Given the description of an element on the screen output the (x, y) to click on. 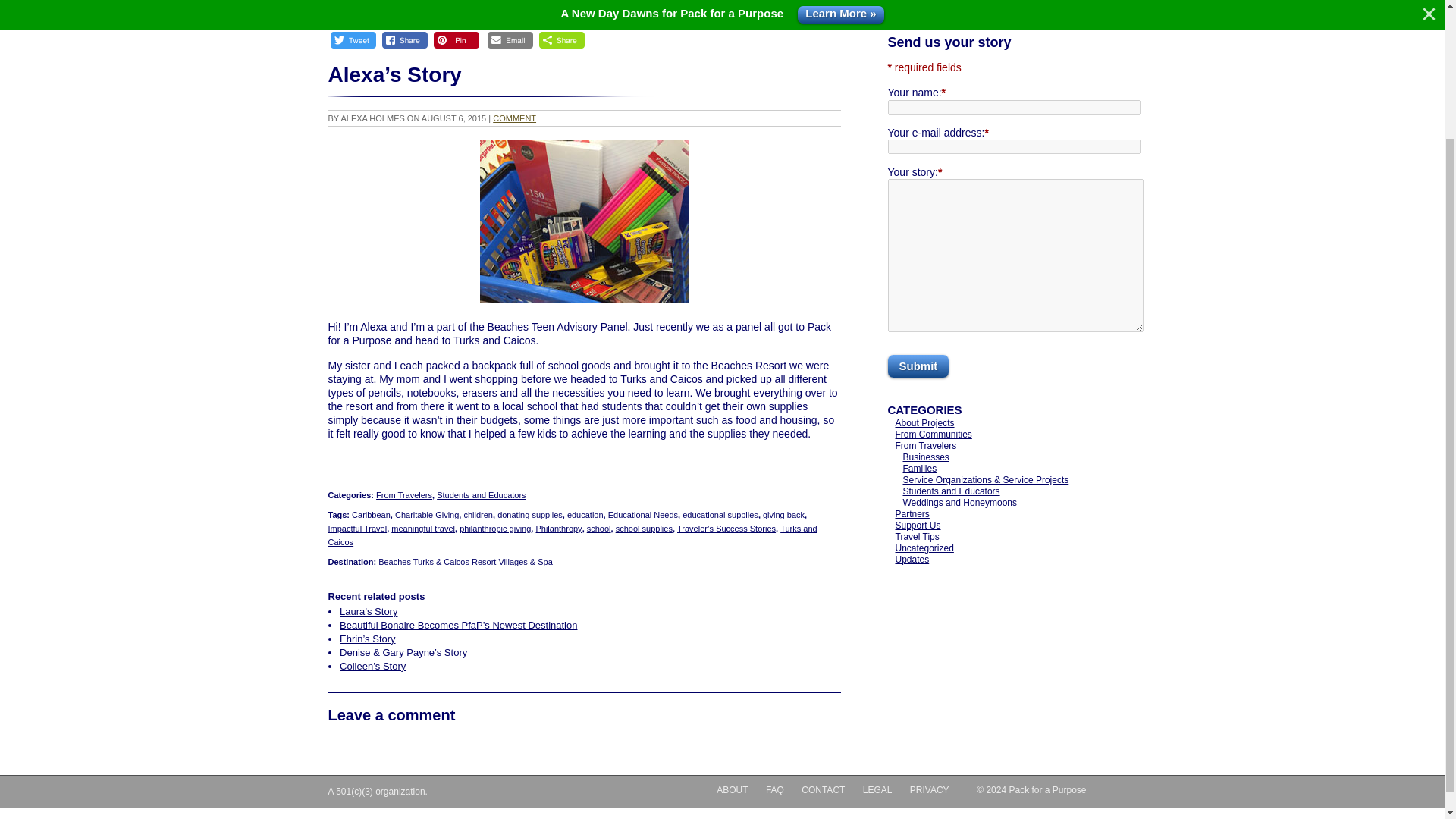
Blog (372, 9)
Home (340, 9)
Submit (917, 365)
